Given the description of an element on the screen output the (x, y) to click on. 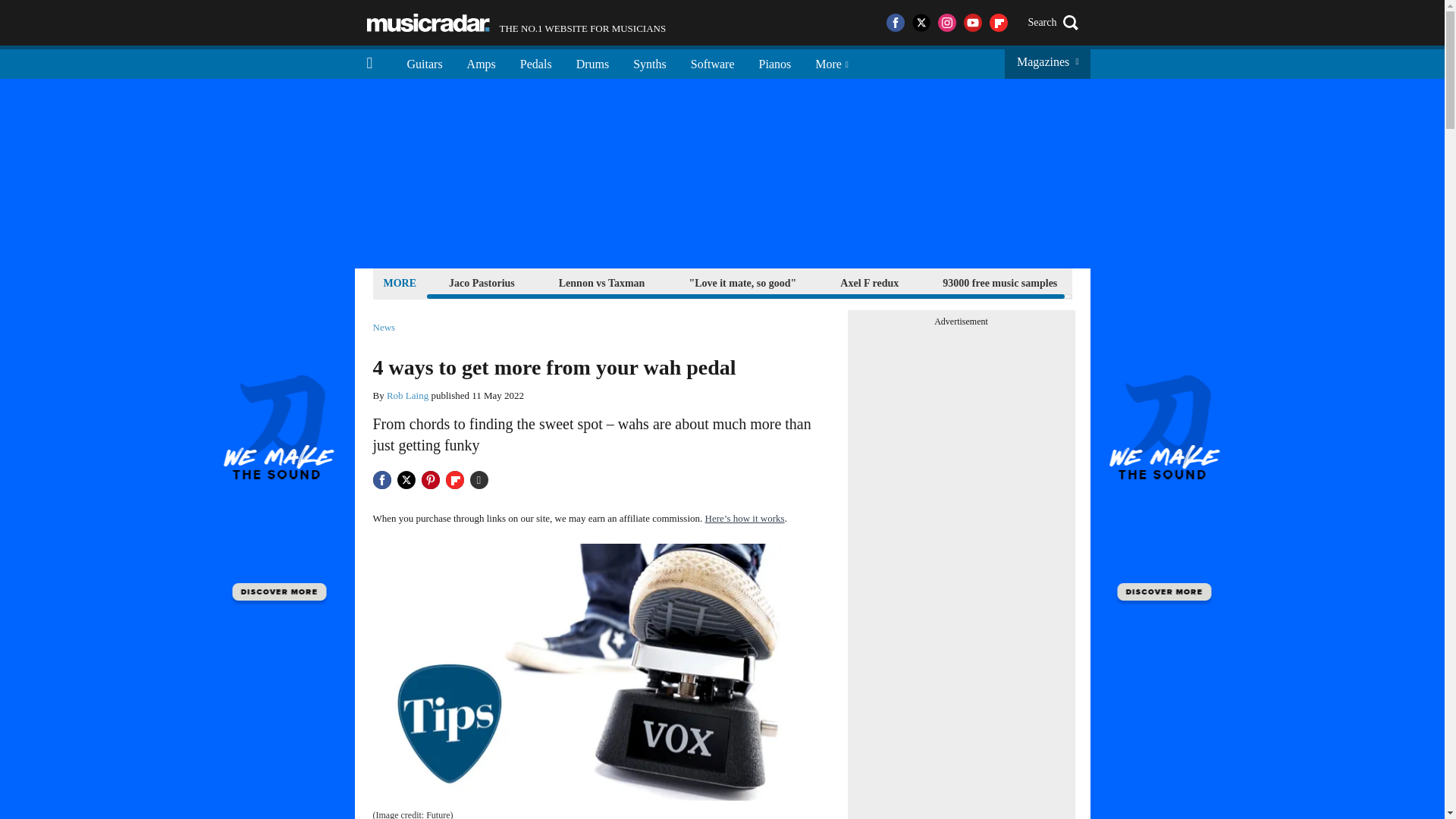
93000 free music samples (999, 282)
Music Radar (427, 22)
"Love it mate, so good" (516, 22)
Pianos (742, 282)
Software (774, 61)
Axel F redux (712, 61)
Jaco Pastorius (869, 282)
Lennon vs Taxman (481, 282)
Drums (601, 282)
Advertisement (592, 61)
Amps (536, 61)
